Given the description of an element on the screen output the (x, y) to click on. 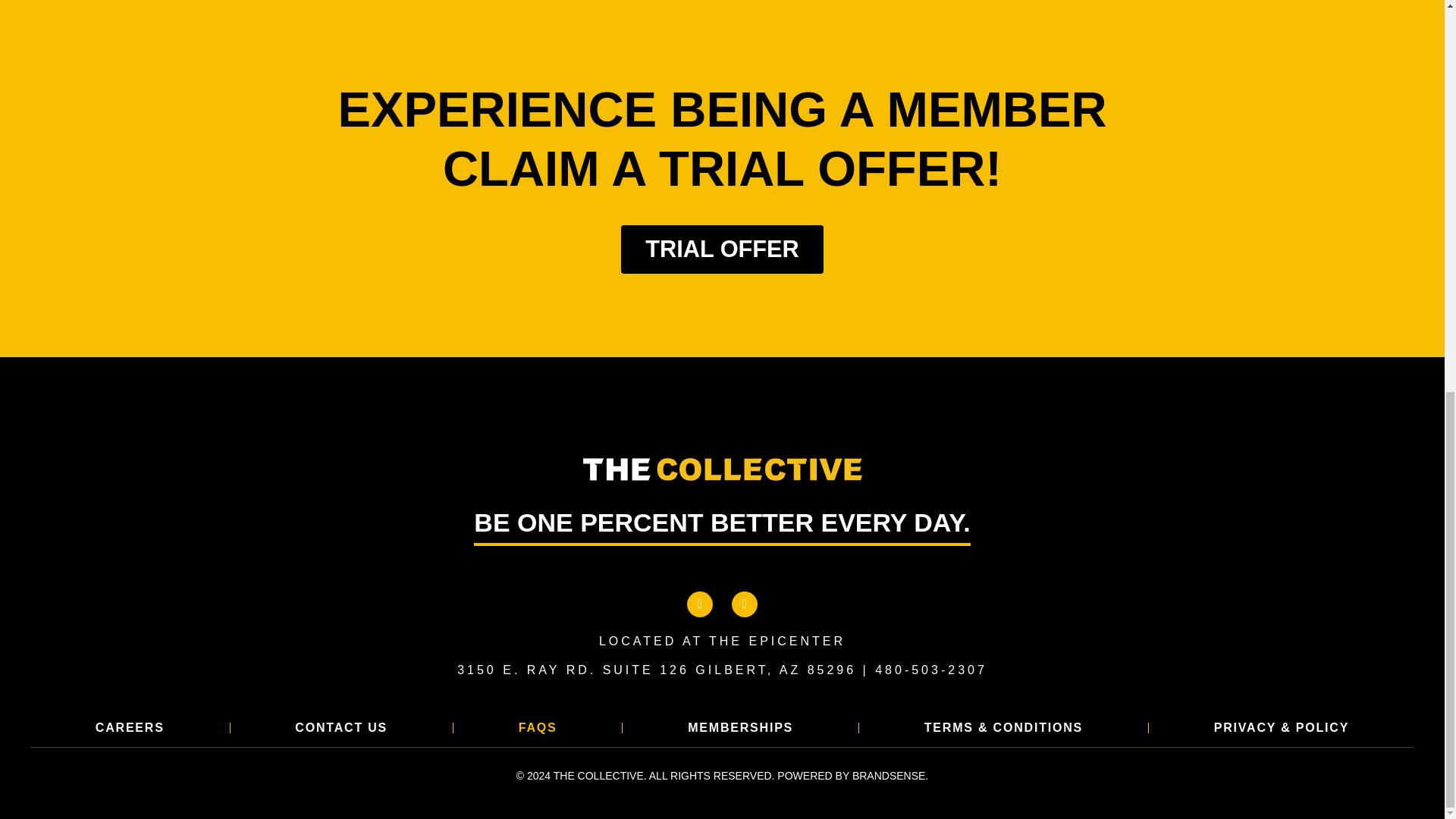
TRIAL OFFER (722, 249)
CONTACT US (341, 727)
FAQS (536, 727)
CAREERS (130, 727)
MEMBERSHIPS (741, 727)
